Given the description of an element on the screen output the (x, y) to click on. 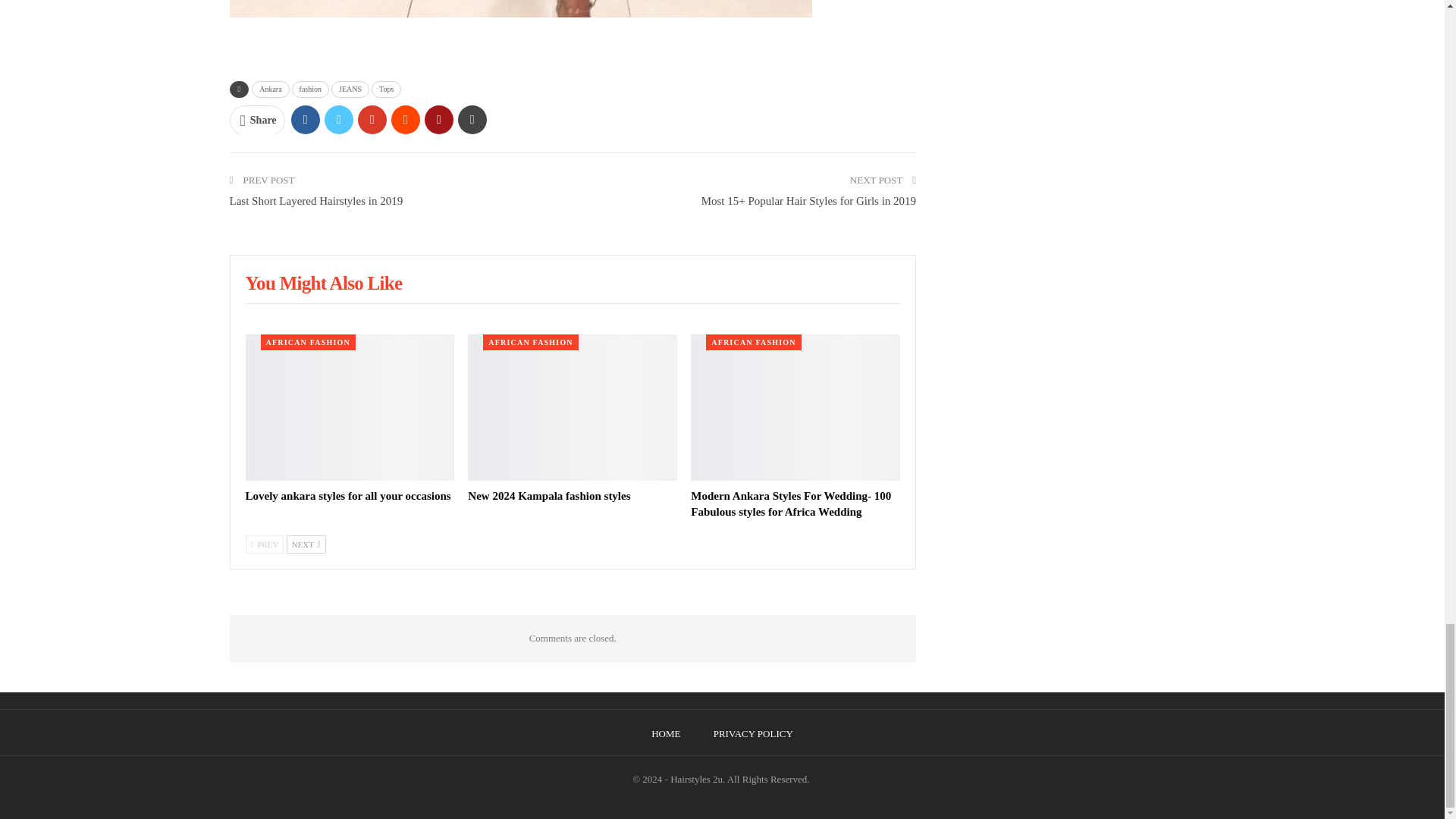
You Might Also Like (324, 285)
New 2024 Kampala fashion styles (548, 495)
AFRICAN FASHION (307, 342)
Lovely ankara styles for all your occasions (348, 495)
JEANS (350, 89)
Lovely ankara styles for all your occasions (350, 407)
Tops (386, 89)
fashion (310, 89)
New 2024 Kampala fashion styles (572, 407)
